Given the description of an element on the screen output the (x, y) to click on. 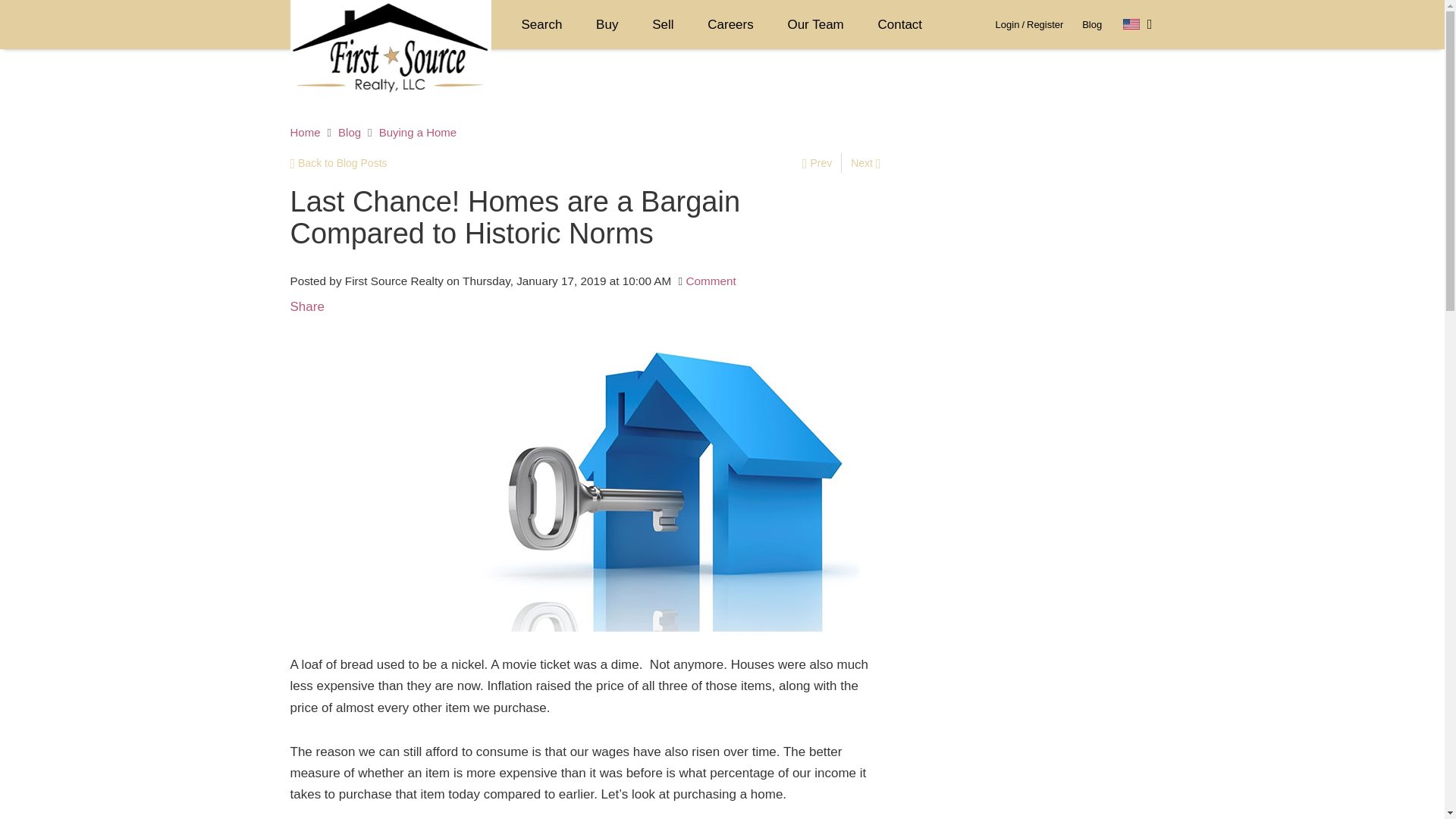
Buy (606, 24)
Register (1044, 24)
Select Language (1137, 24)
Sell (662, 24)
Search (542, 24)
Blog (1091, 24)
